Given the description of an element on the screen output the (x, y) to click on. 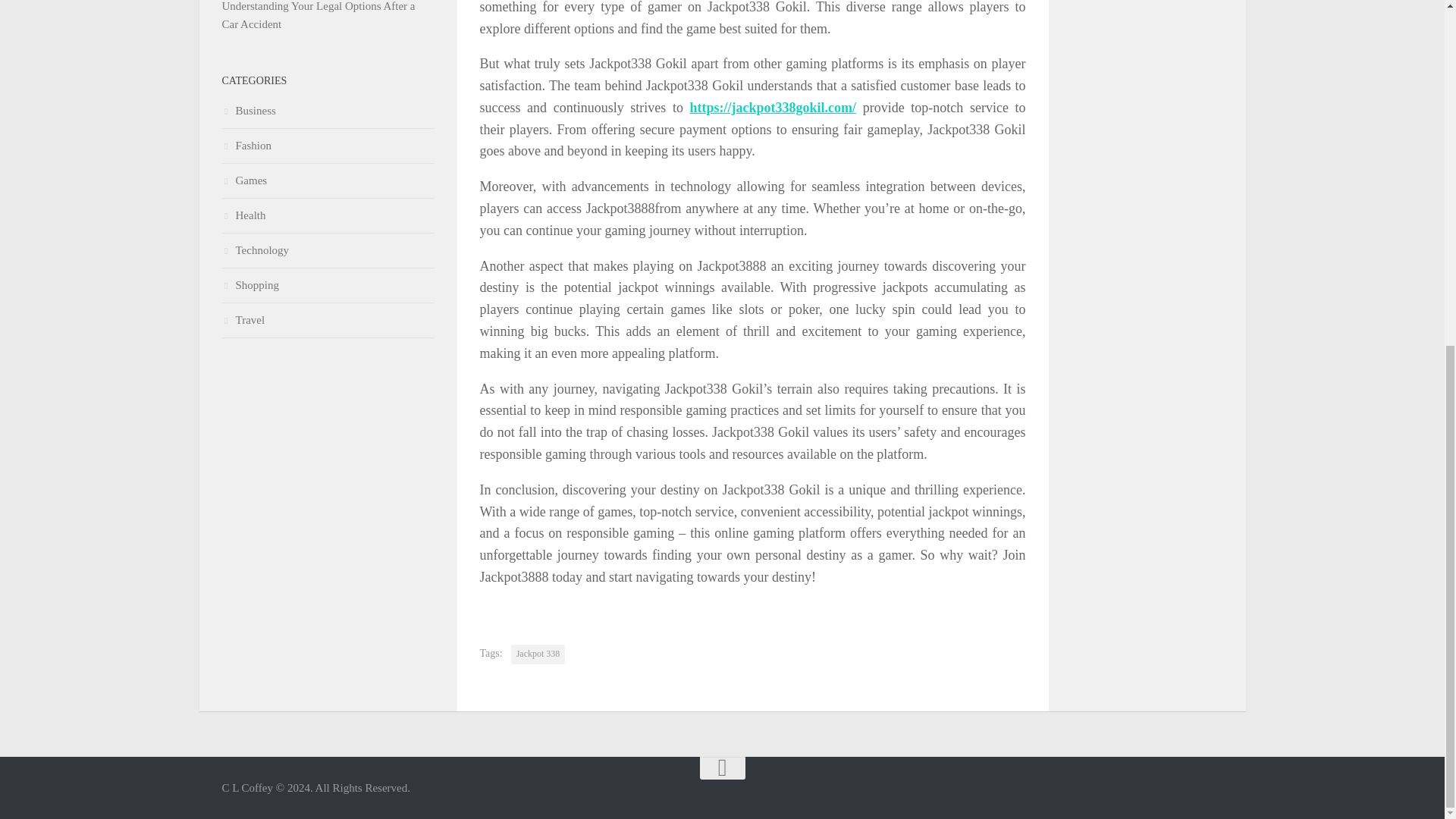
Games (327, 181)
Travel (327, 320)
Technology (327, 250)
Health (327, 216)
Shopping (327, 285)
Jackpot 338 (538, 654)
Fashion (327, 145)
Business (327, 111)
Understanding Your Legal Options After a Car Accident (317, 15)
